Given the description of an element on the screen output the (x, y) to click on. 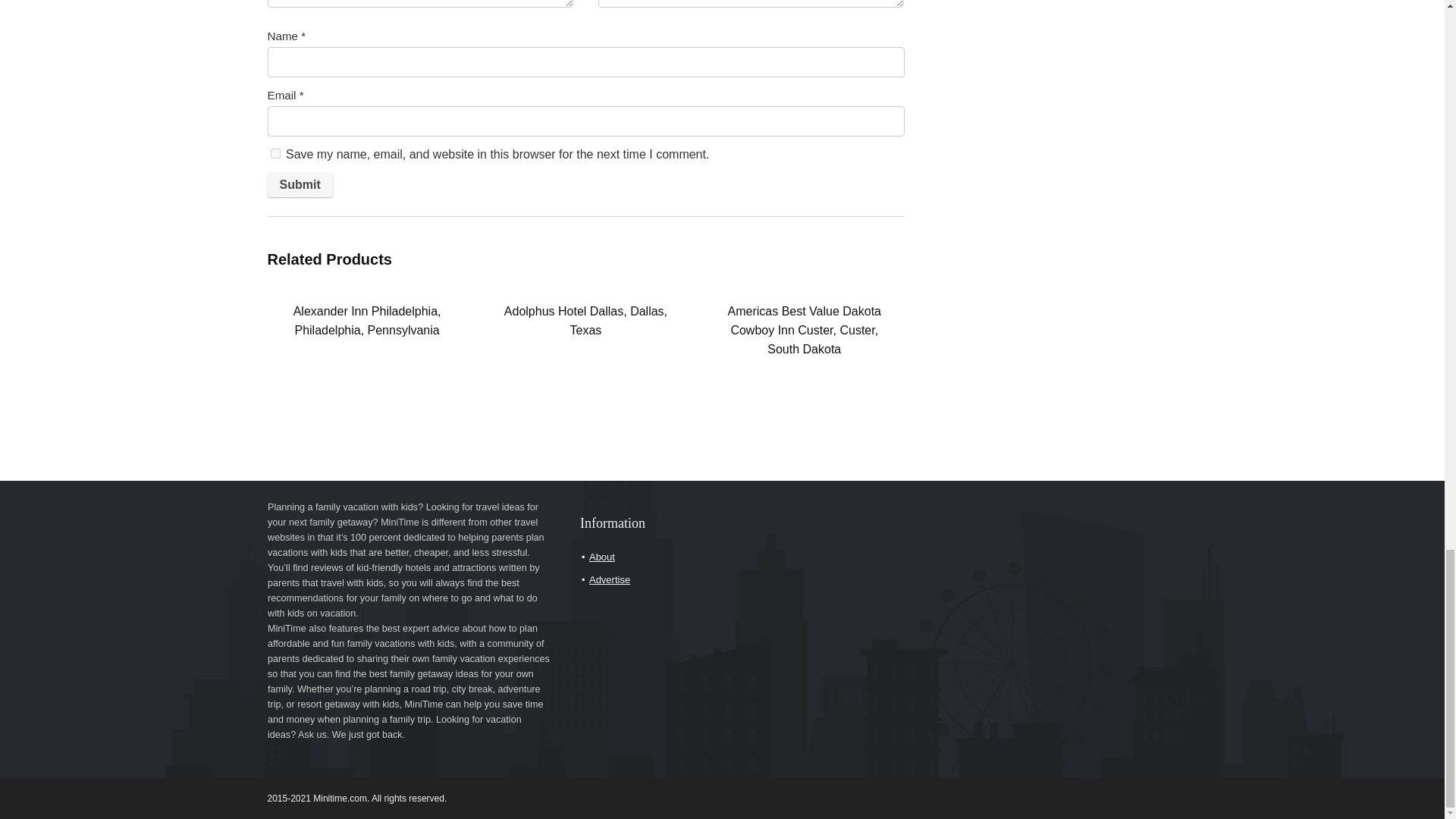
yes (274, 153)
Submit (298, 184)
